Given the description of an element on the screen output the (x, y) to click on. 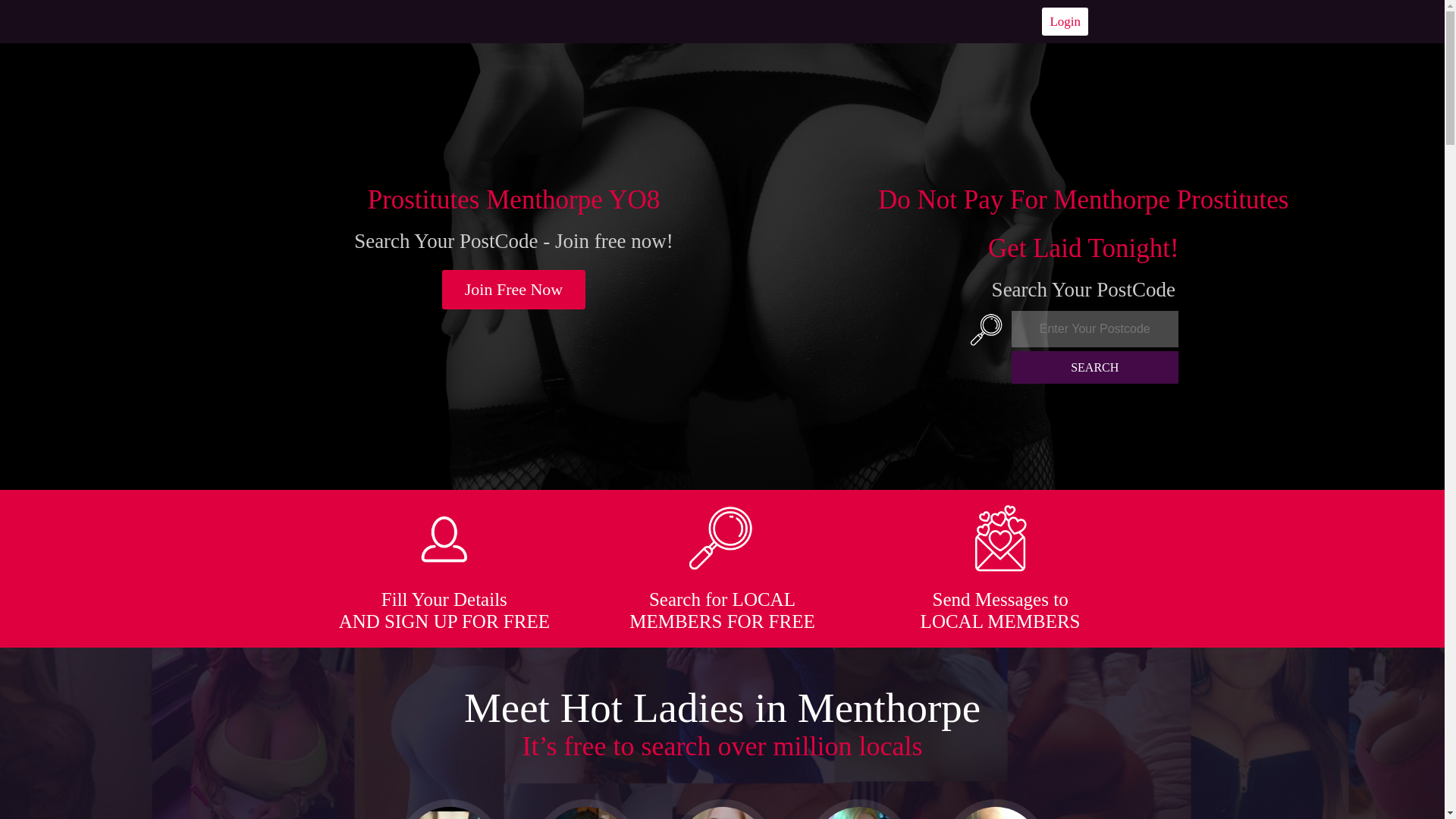
SEARCH (1094, 367)
Login (1064, 21)
Join Free Now (514, 289)
Join (514, 289)
Login (1064, 21)
